Given the description of an element on the screen output the (x, y) to click on. 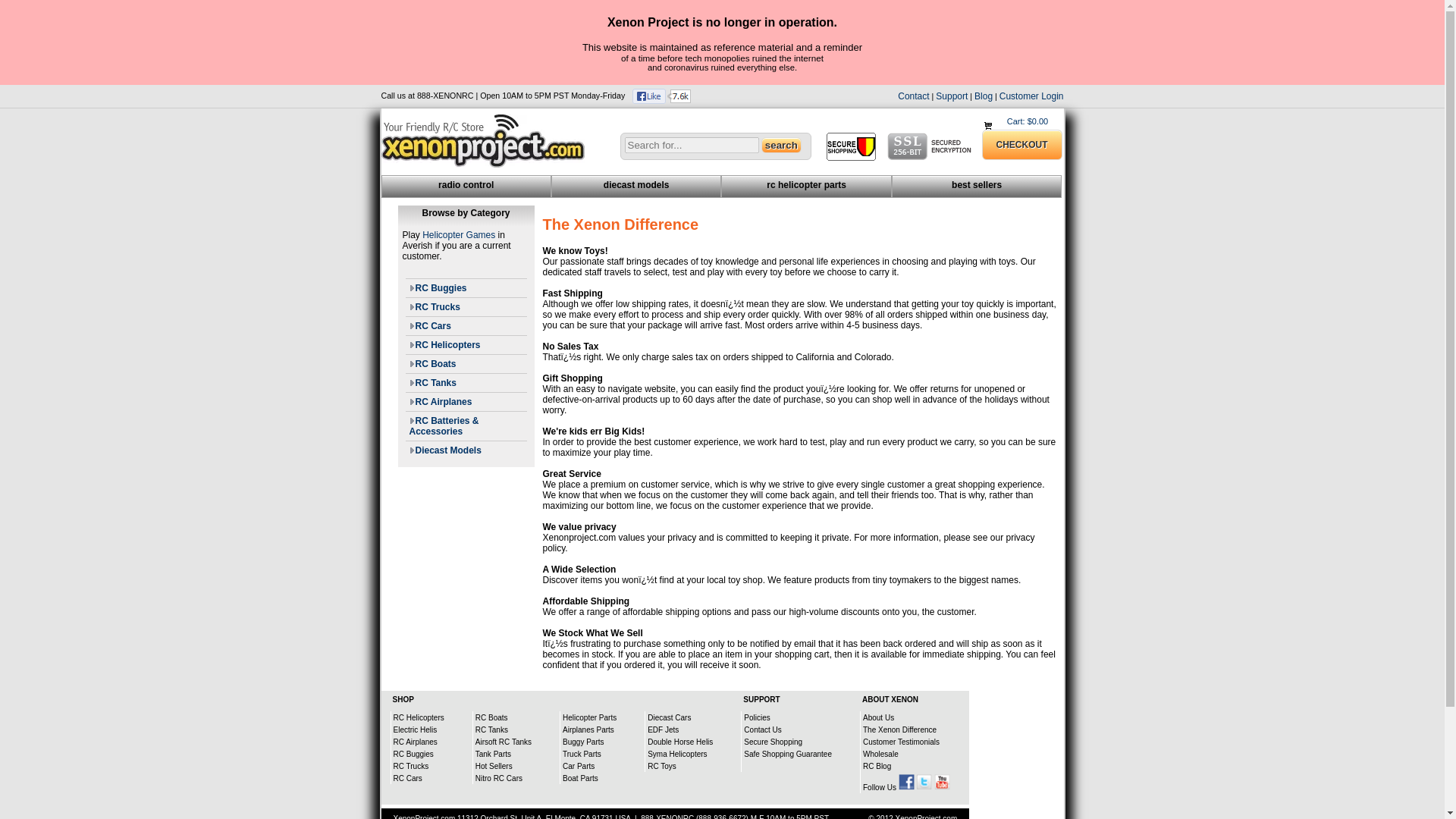
Contact (913, 95)
radio control (465, 185)
Blog (983, 95)
search (781, 145)
search (781, 145)
Support (952, 95)
Customer Login (1031, 95)
CHECKOUT (1021, 144)
